Given the description of an element on the screen output the (x, y) to click on. 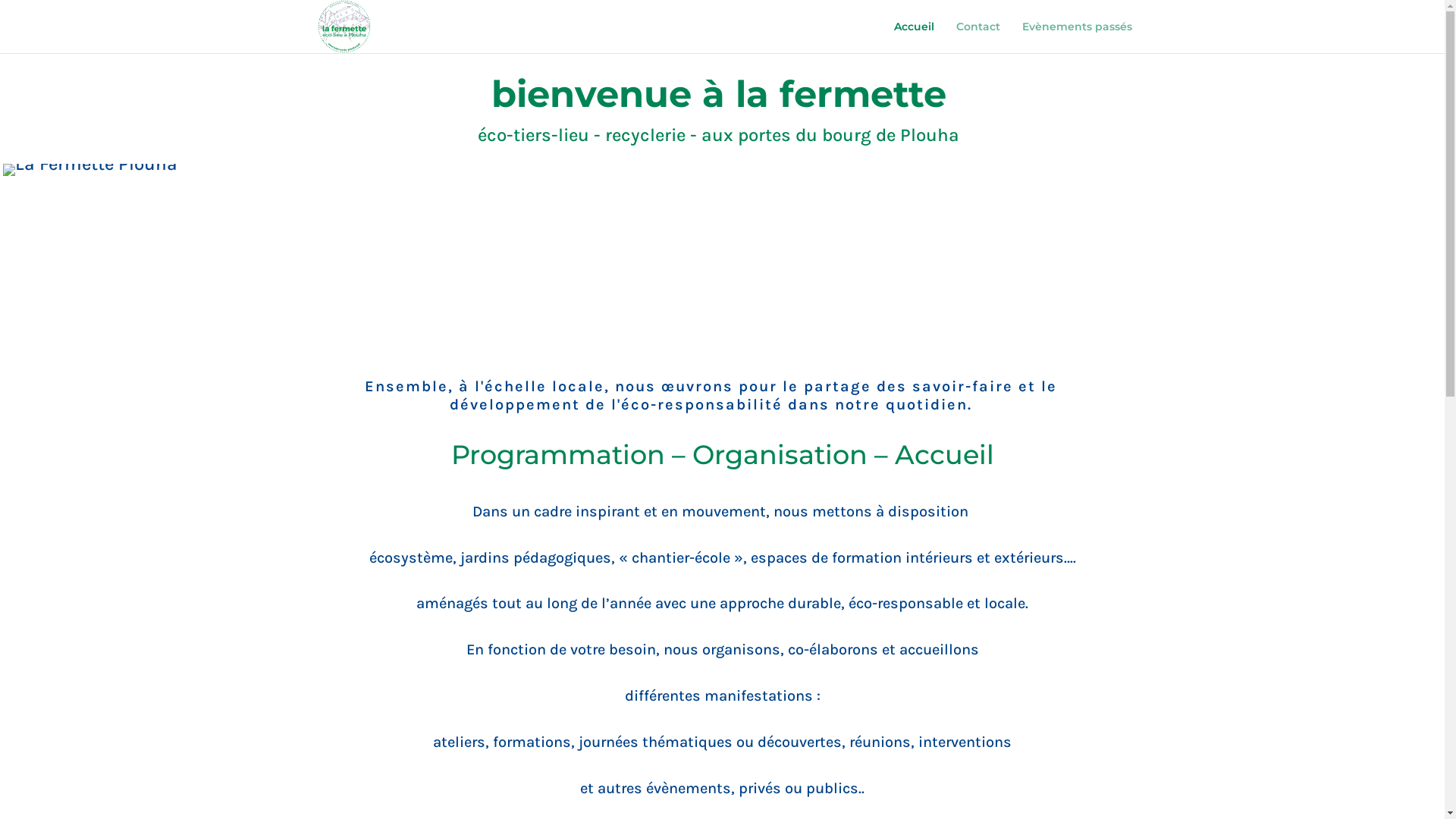
La Fermette Plouha Element type: hover (90, 169)
Accueil Element type: text (913, 37)
Contact Element type: text (977, 37)
